Given the description of an element on the screen output the (x, y) to click on. 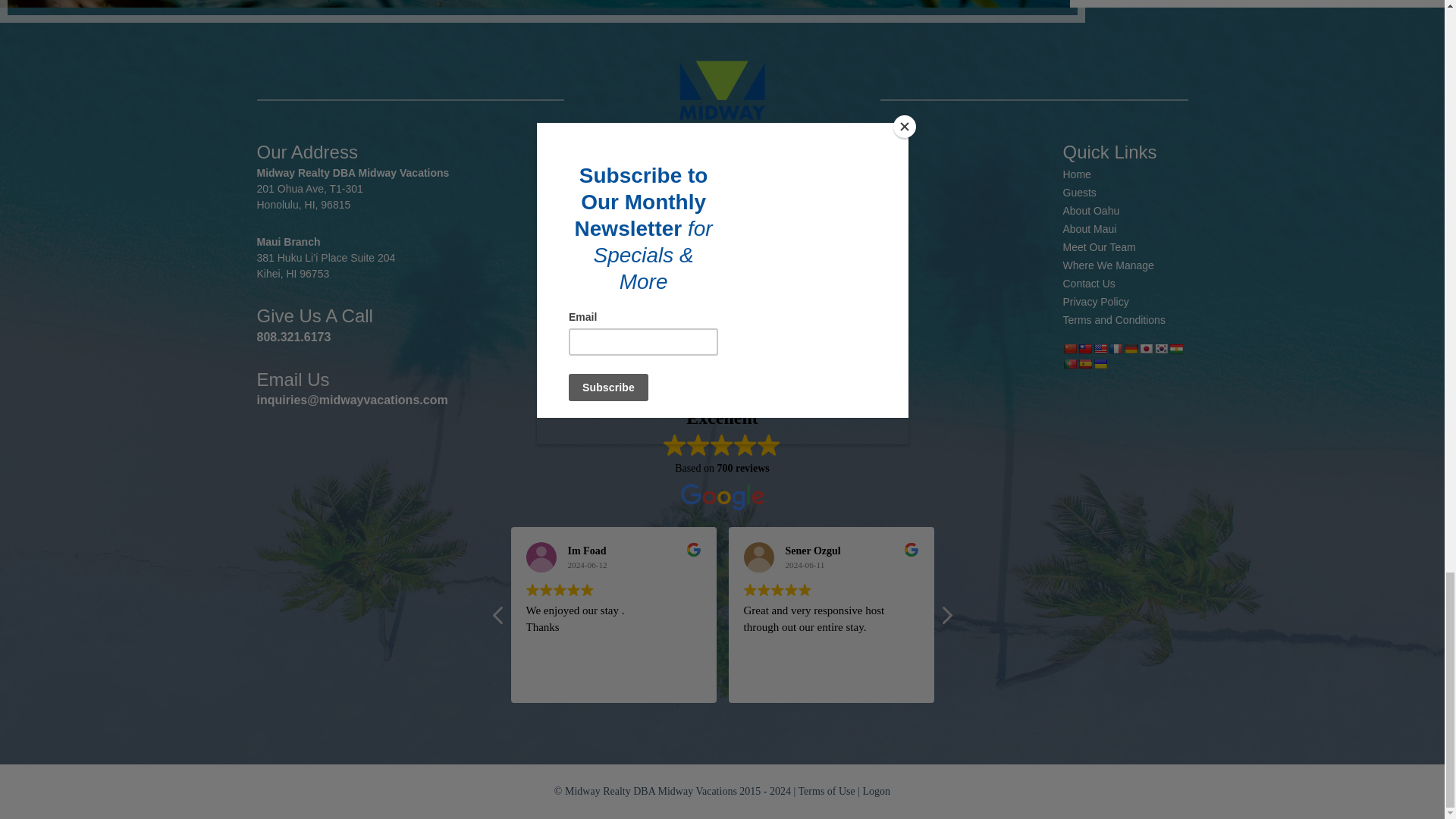
instagram (704, 317)
youtube (739, 317)
youtube (773, 317)
MV-Color-Icon-Text-1 (721, 98)
facebook (636, 317)
linkedin (671, 317)
Korean (1160, 348)
German (1130, 348)
English (1099, 348)
French (1115, 348)
Japanese (1145, 348)
Streamline Vacation Rental Software (721, 383)
youtube (807, 317)
Subscribe (797, 246)
